Given the description of an element on the screen output the (x, y) to click on. 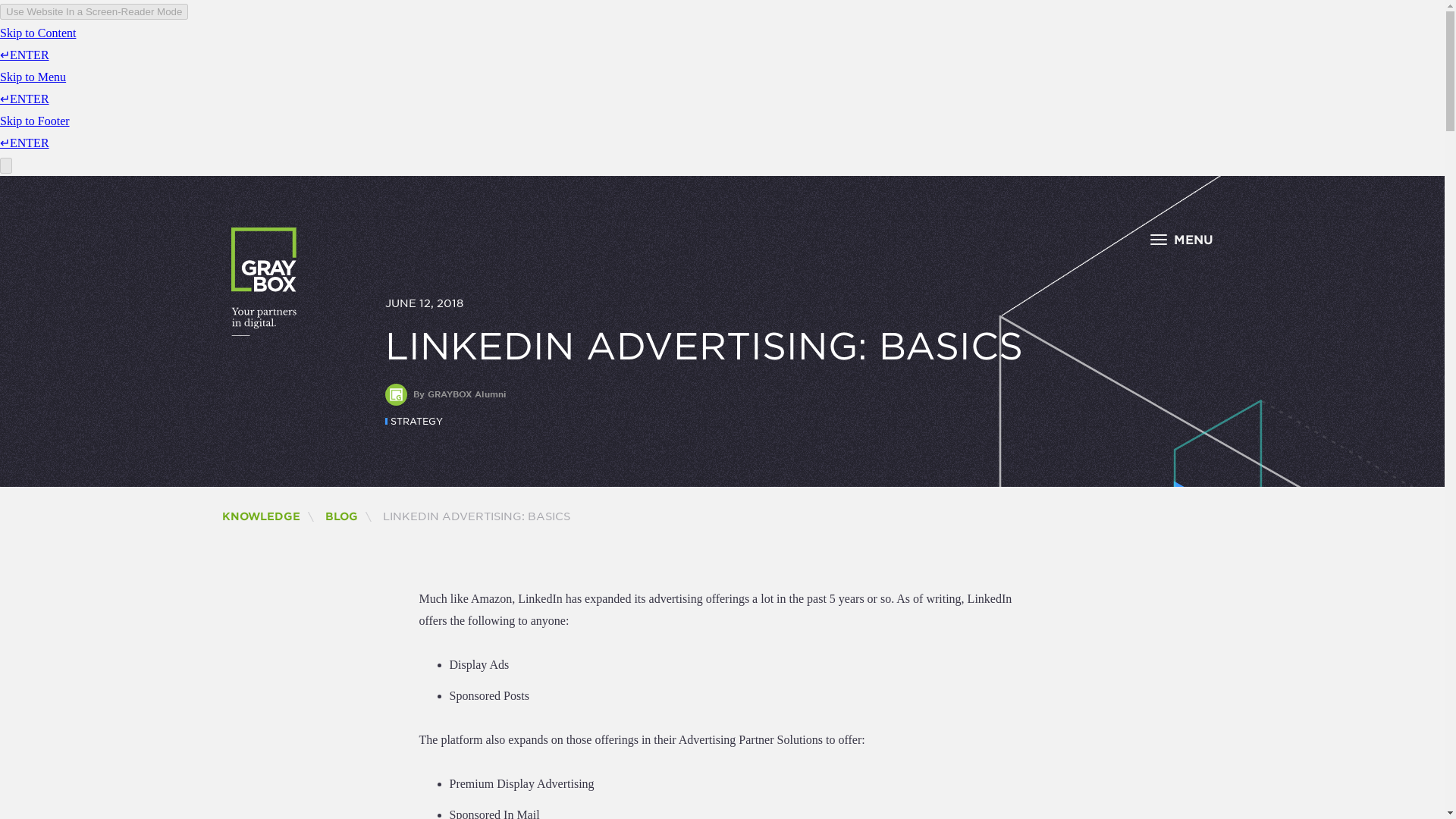
MENU (1183, 239)
